Given the description of an element on the screen output the (x, y) to click on. 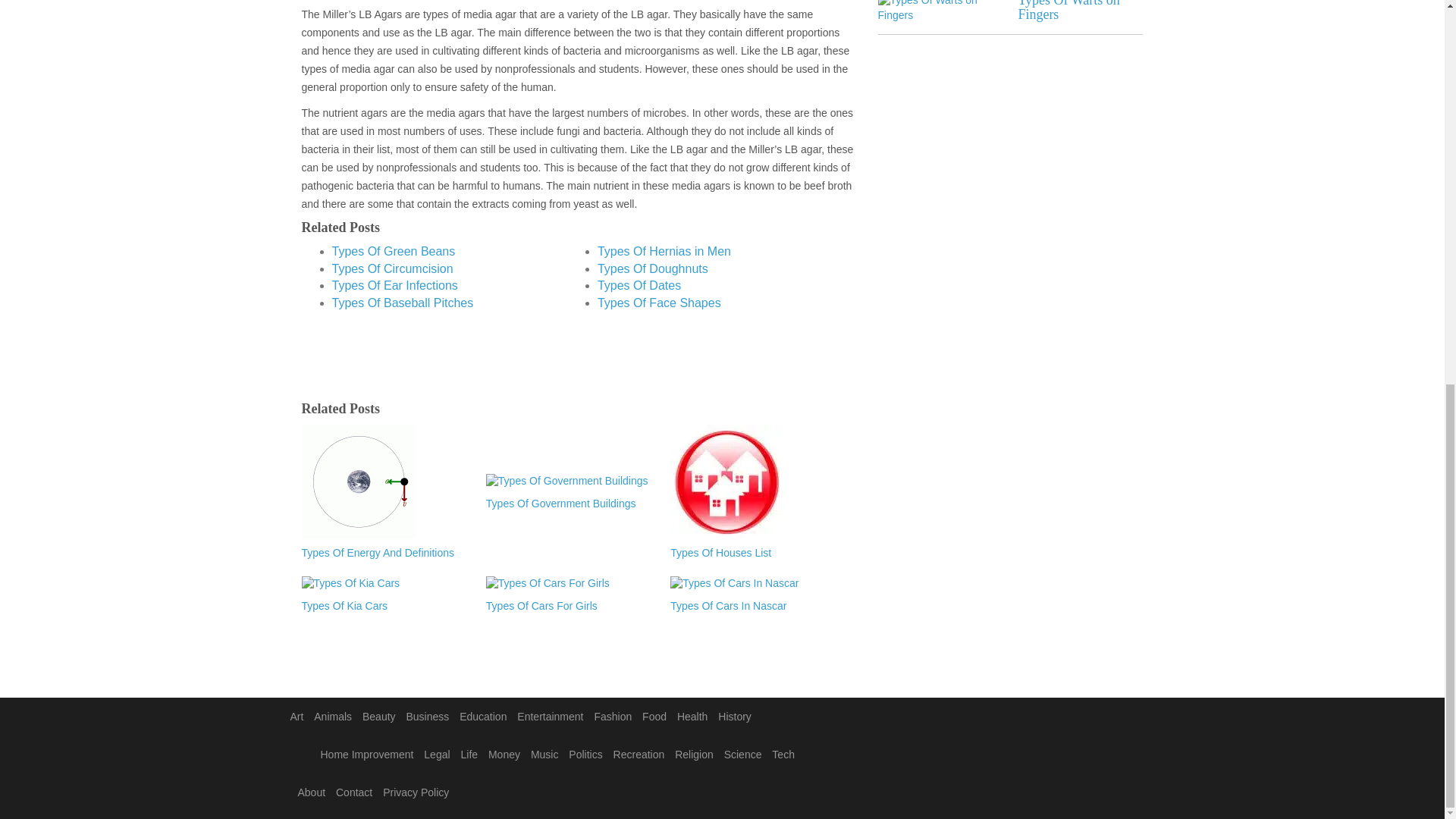
Types Of Circumcision (391, 268)
Types Of Hernias in Men (663, 250)
Types Of Energy And Definitions (385, 553)
Types Of Houses List (754, 553)
Types Of Dates (638, 285)
Types Of Baseball Pitches (402, 302)
Types Of Green Beans (393, 250)
Types Of Face Shapes (658, 302)
Types Of Ear Infections (394, 285)
Types Of Government Buildings (570, 503)
